Given the description of an element on the screen output the (x, y) to click on. 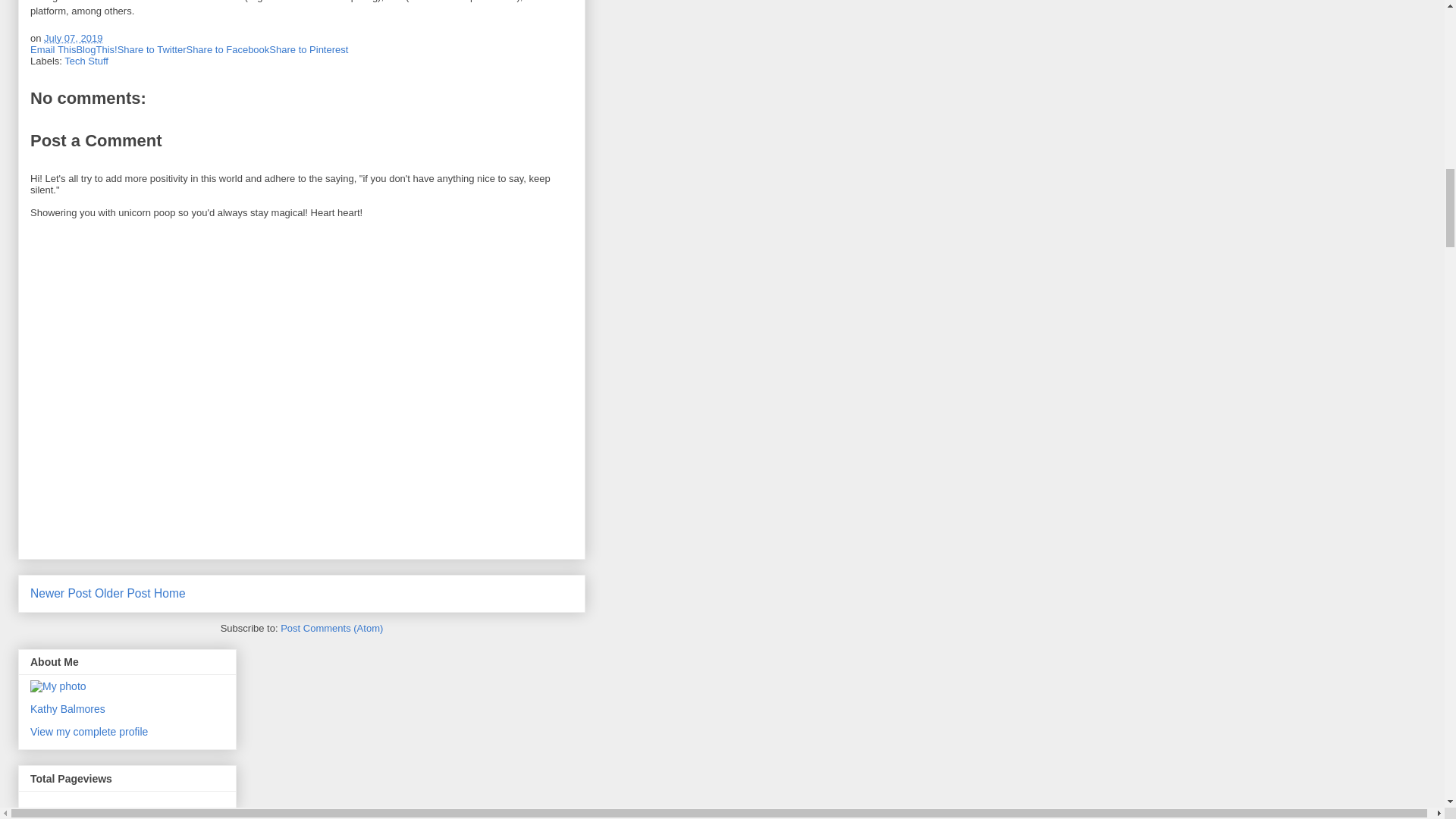
Share to Twitter (151, 49)
Email This (52, 49)
Share to Facebook (227, 49)
Newer Post (60, 593)
Home (170, 593)
Email This (52, 49)
July 07, 2019 (72, 38)
Kathy Balmores (67, 708)
Tech Stuff (85, 60)
Older Post (122, 593)
Newer Post (60, 593)
permanent link (72, 38)
Older Post (122, 593)
Share to Pinterest (308, 49)
Share to Pinterest (308, 49)
